Given the description of an element on the screen output the (x, y) to click on. 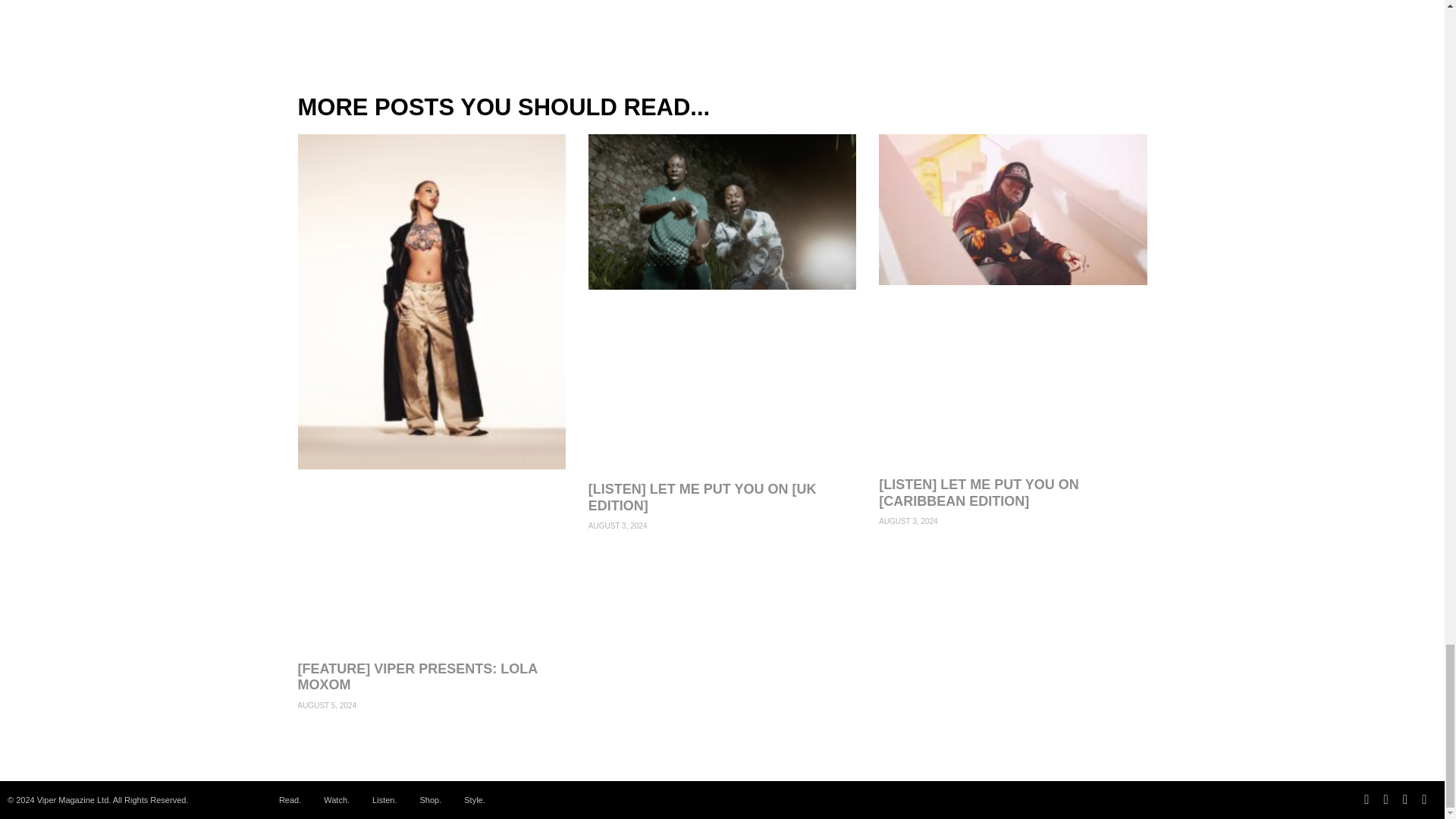
Listen. (384, 799)
Watch. (337, 799)
Shop. (429, 799)
Read. (290, 799)
Style. (474, 799)
